Given the description of an element on the screen output the (x, y) to click on. 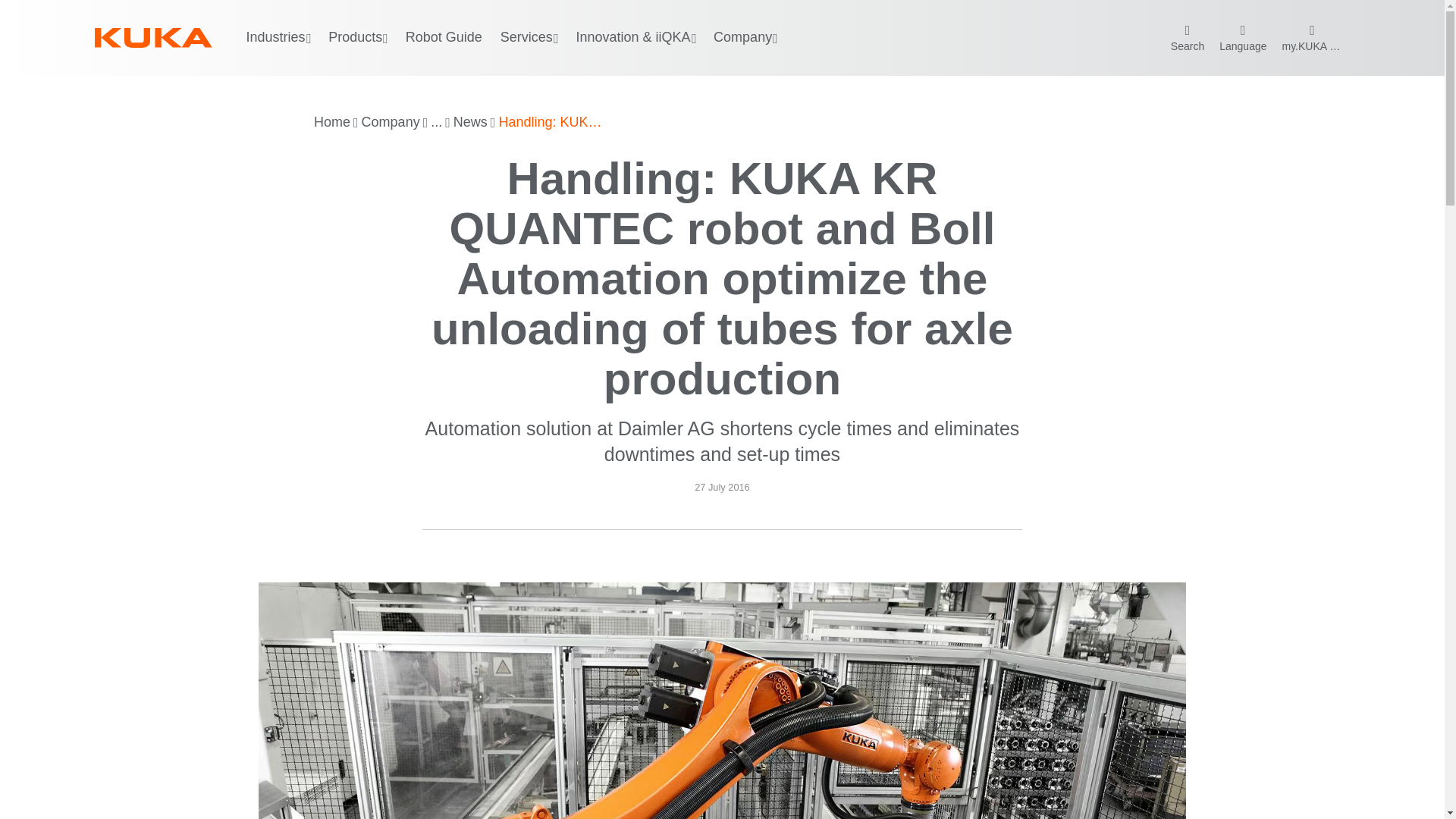
Handling: KUKA KR QUANTEC robot at Boll Automation (551, 122)
News (469, 122)
Company (390, 122)
Home (332, 122)
